Given the description of an element on the screen output the (x, y) to click on. 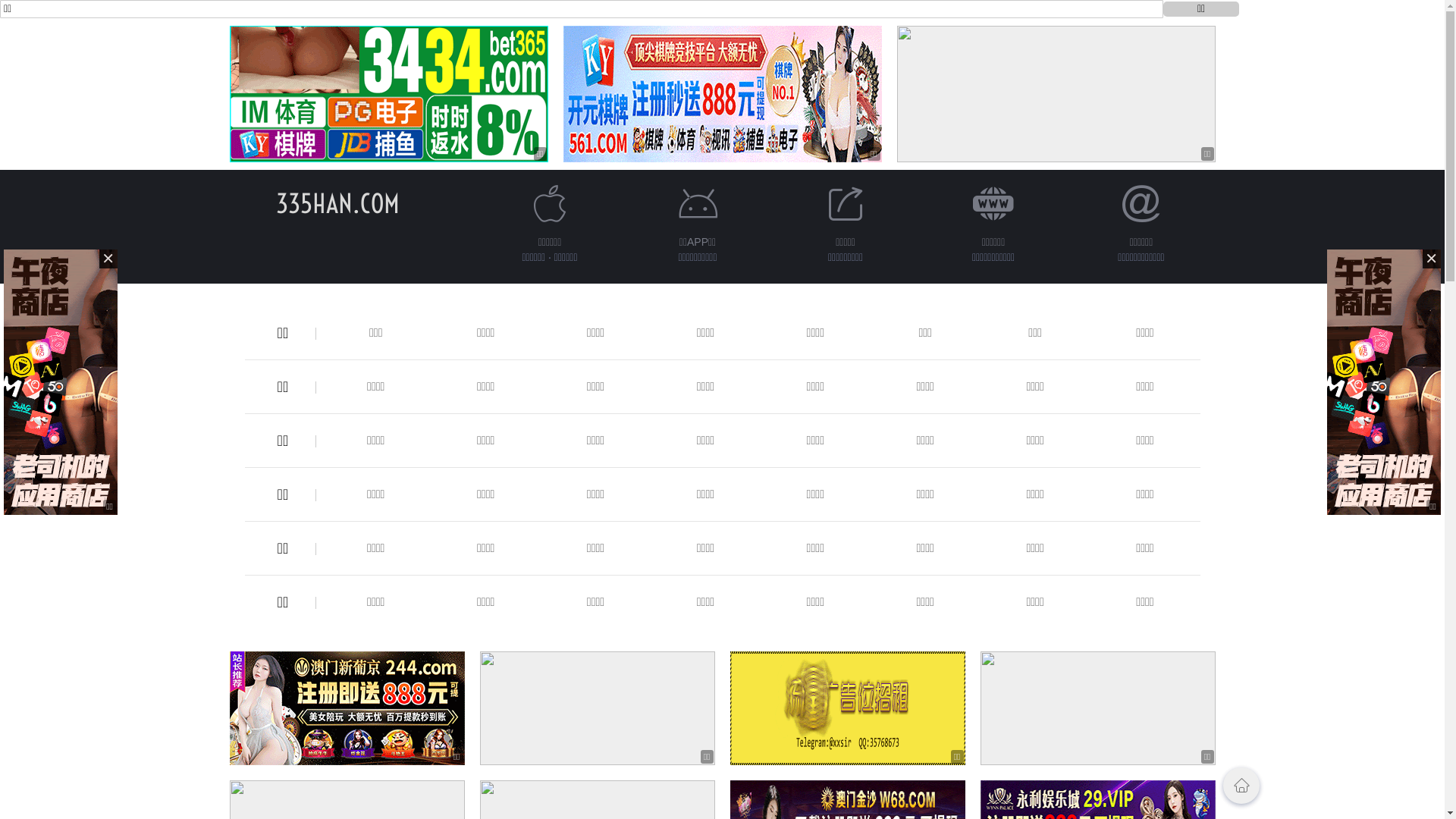
335HAN.COM Element type: text (337, 203)
